Given the description of an element on the screen output the (x, y) to click on. 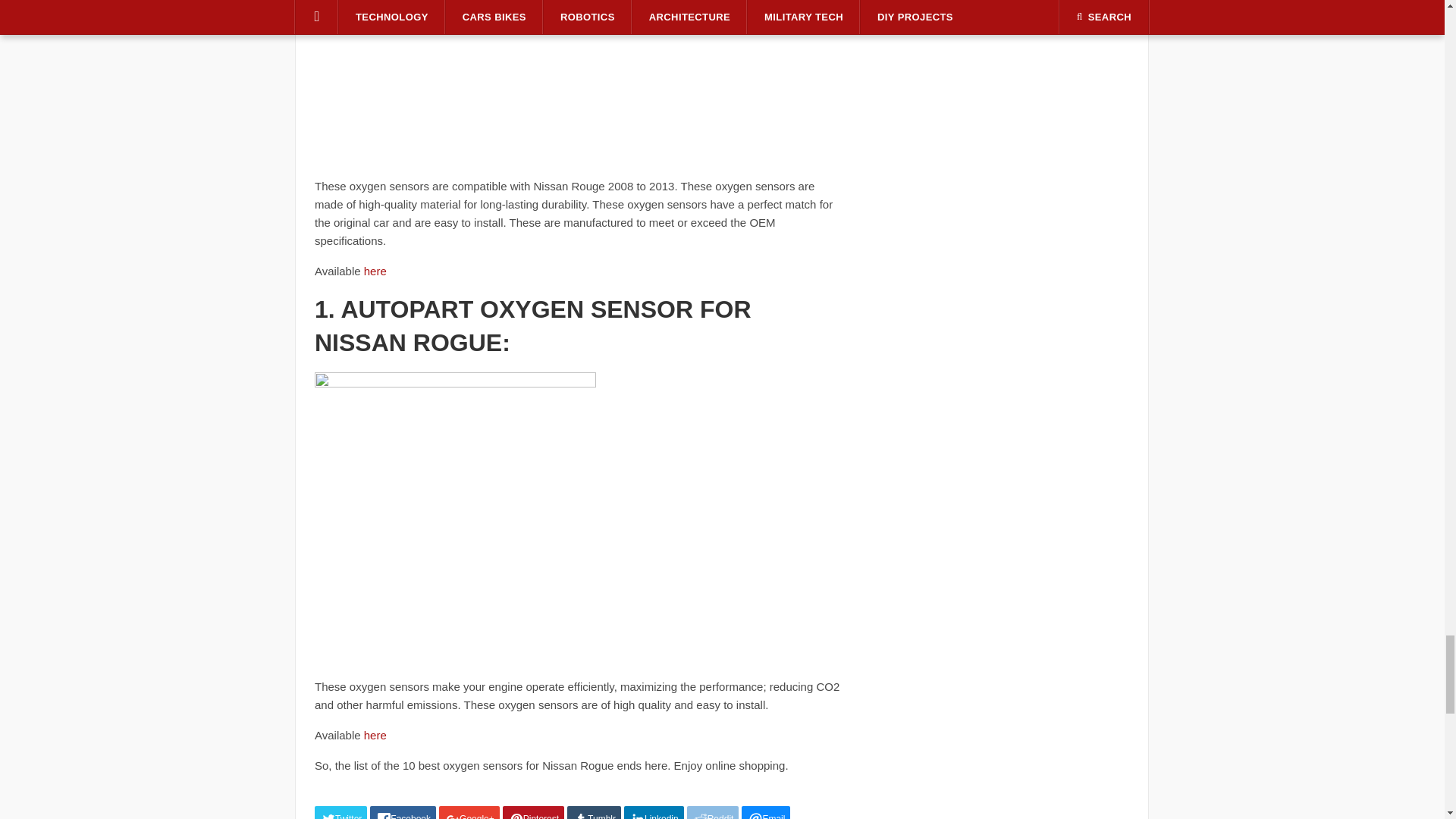
here (375, 270)
here (375, 735)
